Given the description of an element on the screen output the (x, y) to click on. 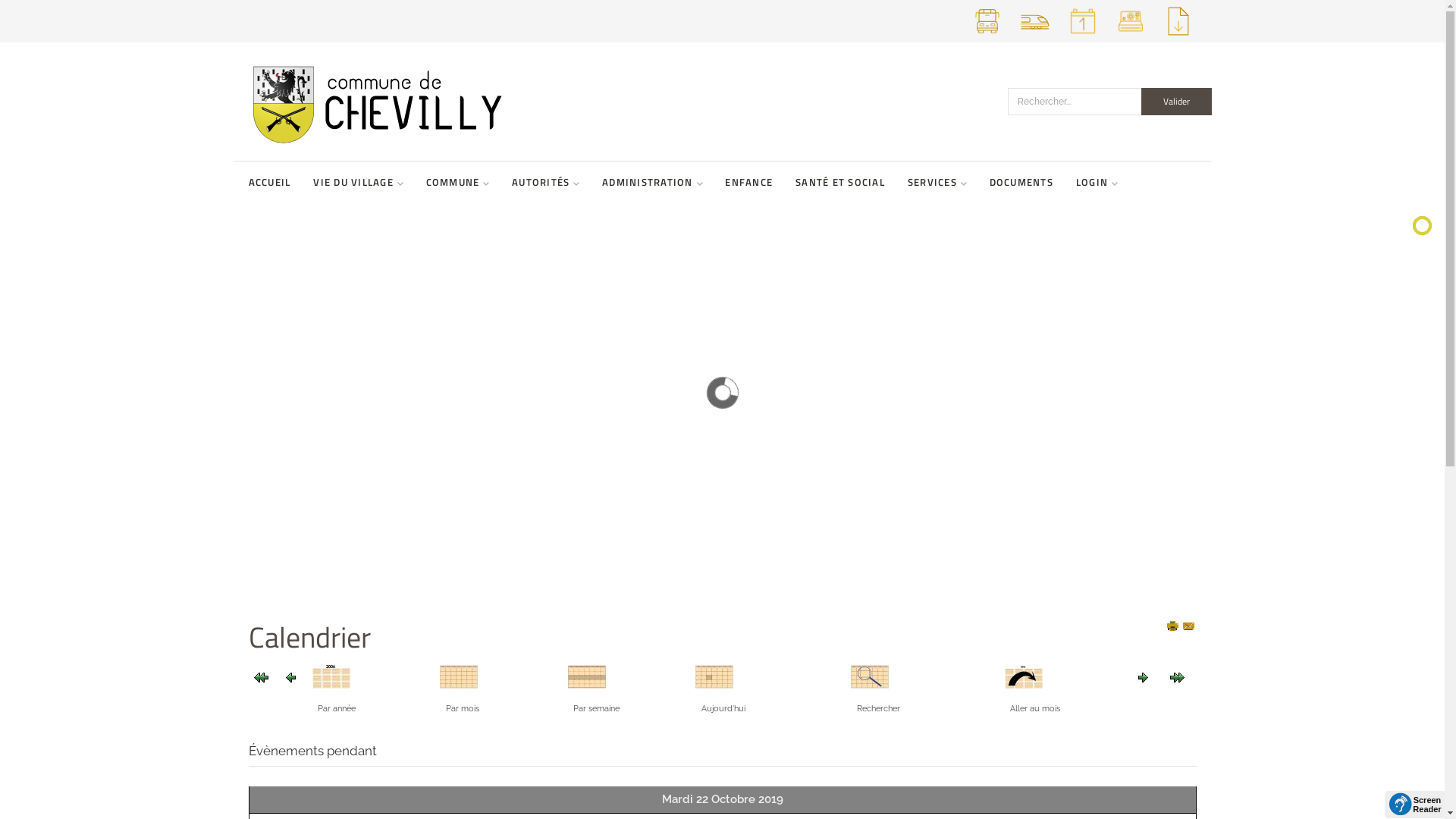
Jour suivant Element type: hover (1143, 677)
Rechercher Element type: hover (869, 676)
Aujourd'hui Element type: hover (714, 676)
Imprimer Element type: hover (1173, 626)
photos d'antan Element type: hover (1129, 36)
horaires de bus Element type: hover (987, 36)
Par semaine Element type: hover (586, 676)
DOCUMENTS Element type: text (1021, 182)
agenda Element type: hover (1082, 36)
ACCUEIL Element type: text (269, 182)
COMMUNE Element type: text (457, 182)
Aller au mois Element type: hover (1023, 676)
EMAIL Element type: hover (1189, 626)
Par mois Element type: hover (458, 676)
documents Element type: hover (1178, 36)
Mois suivant Element type: hover (1177, 677)
Commune de Chevilly Element type: hover (464, 101)
horaires de trains Element type: hover (1034, 36)
ADMINISTRATION Element type: text (652, 182)
ENFANCE Element type: text (748, 182)
Valider Element type: text (1175, 101)
